Given the description of an element on the screen output the (x, y) to click on. 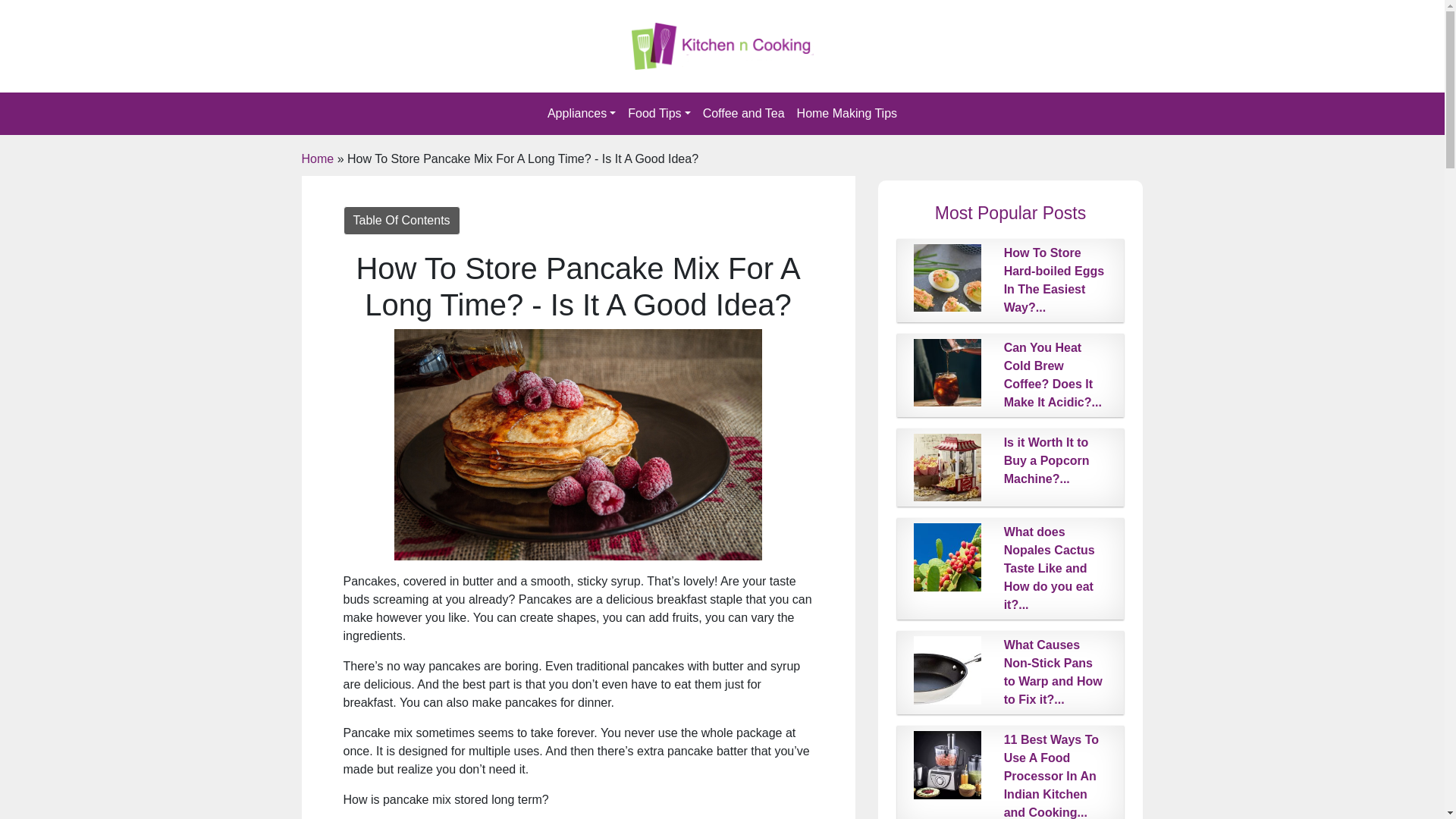
Is it Worth It to Buy a Popcorn Machine?... (1046, 460)
How To Store Hard-boiled Eggs In The Easiest Way?... (1053, 279)
Food Tips (658, 113)
Can You Heat Cold Brew Coffee? Does It Make It Acidic?... (1053, 374)
Table Of Contents (401, 220)
Coffee and Tea (743, 113)
Home (317, 158)
Home Making Tips (847, 113)
Appliances (581, 113)
